Given the description of an element on the screen output the (x, y) to click on. 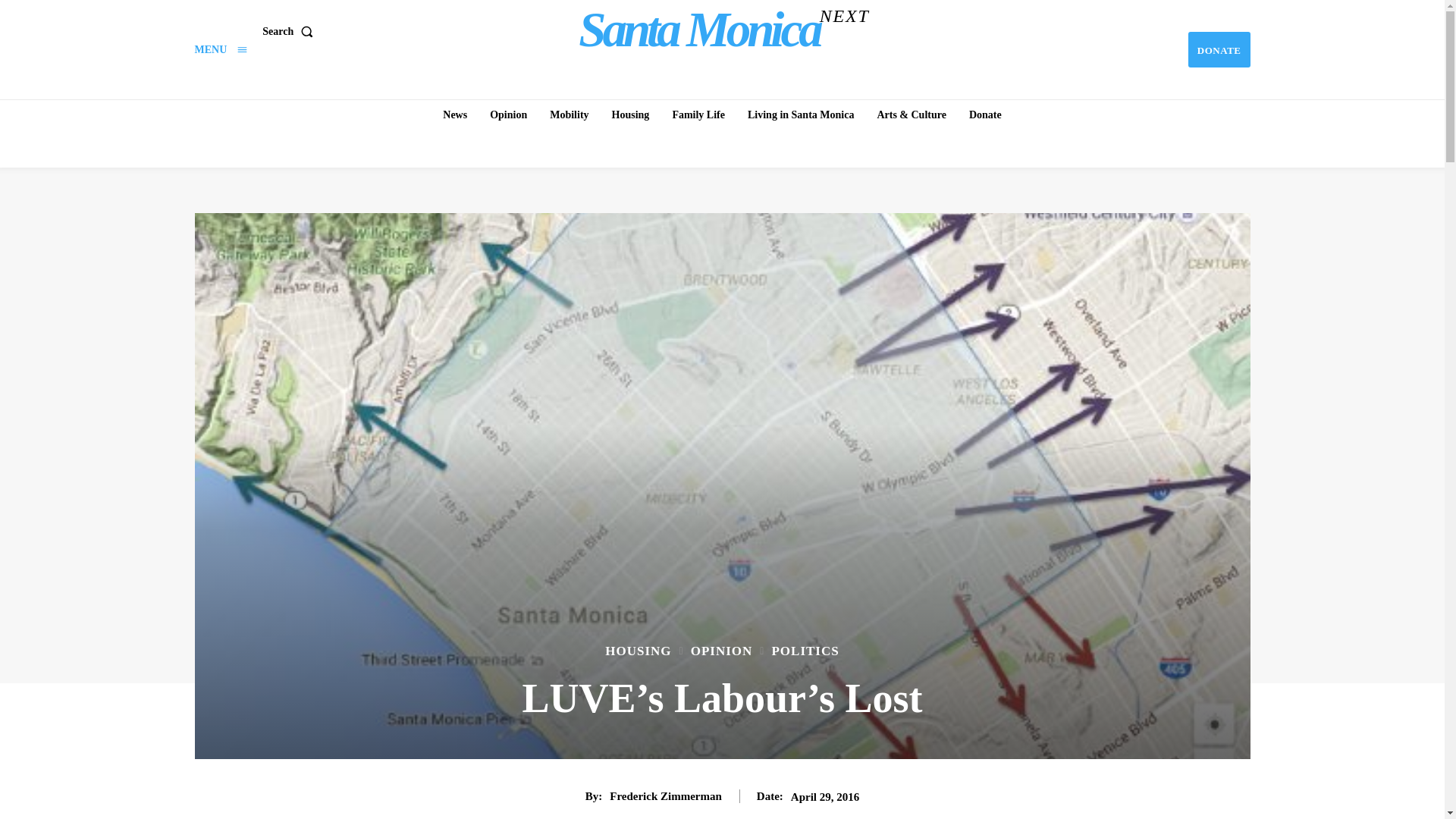
Mobility (568, 115)
Donate (1219, 49)
Family Life (697, 115)
News (454, 115)
Search (724, 29)
DONATE (290, 30)
Donate (1219, 49)
MENU (984, 115)
Opinion (220, 49)
Menu (507, 115)
Housing (220, 49)
Living in Santa Monica (631, 115)
